Given the description of an element on the screen output the (x, y) to click on. 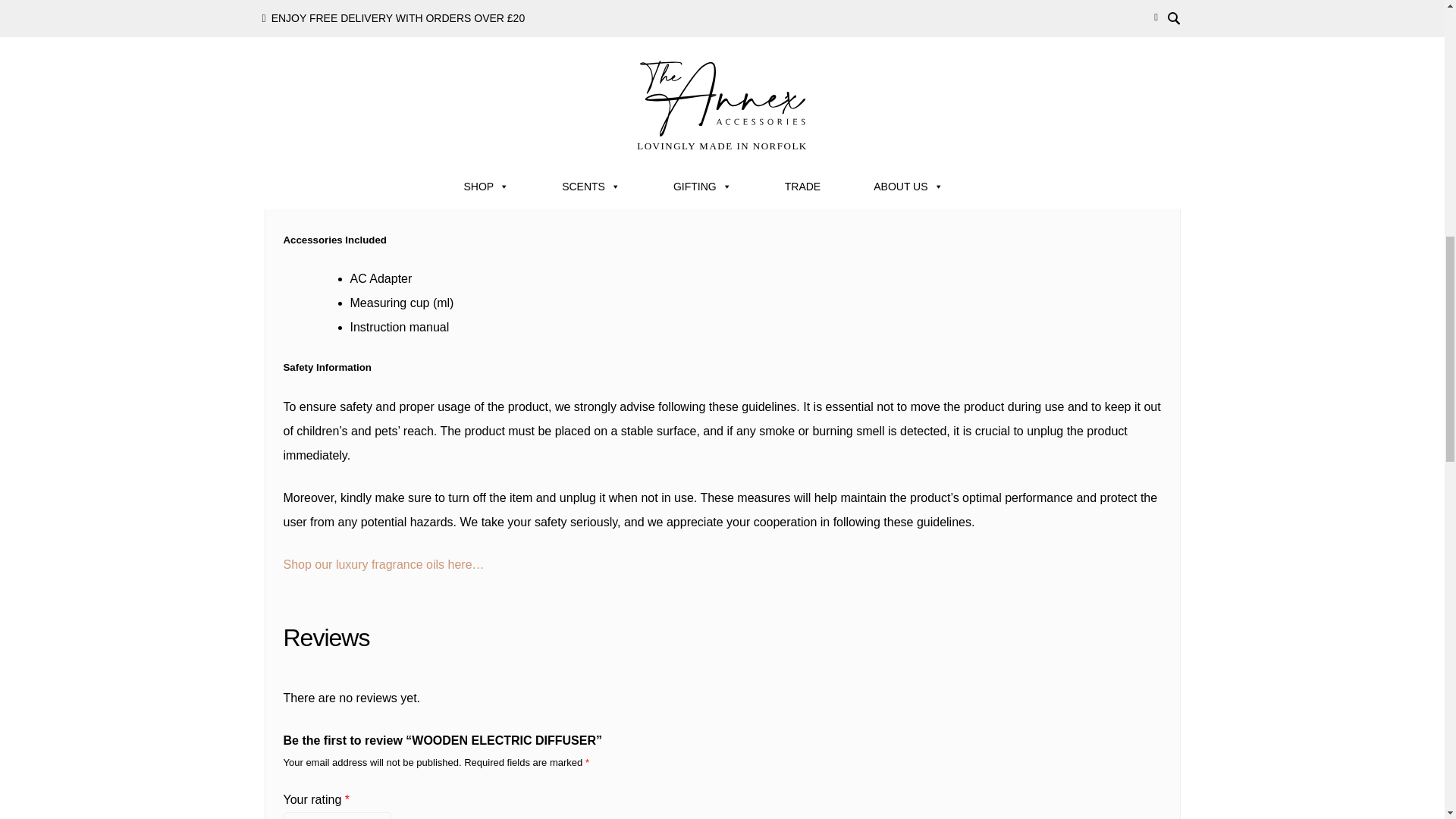
Back to top (1414, 15)
